Given the description of an element on the screen output the (x, y) to click on. 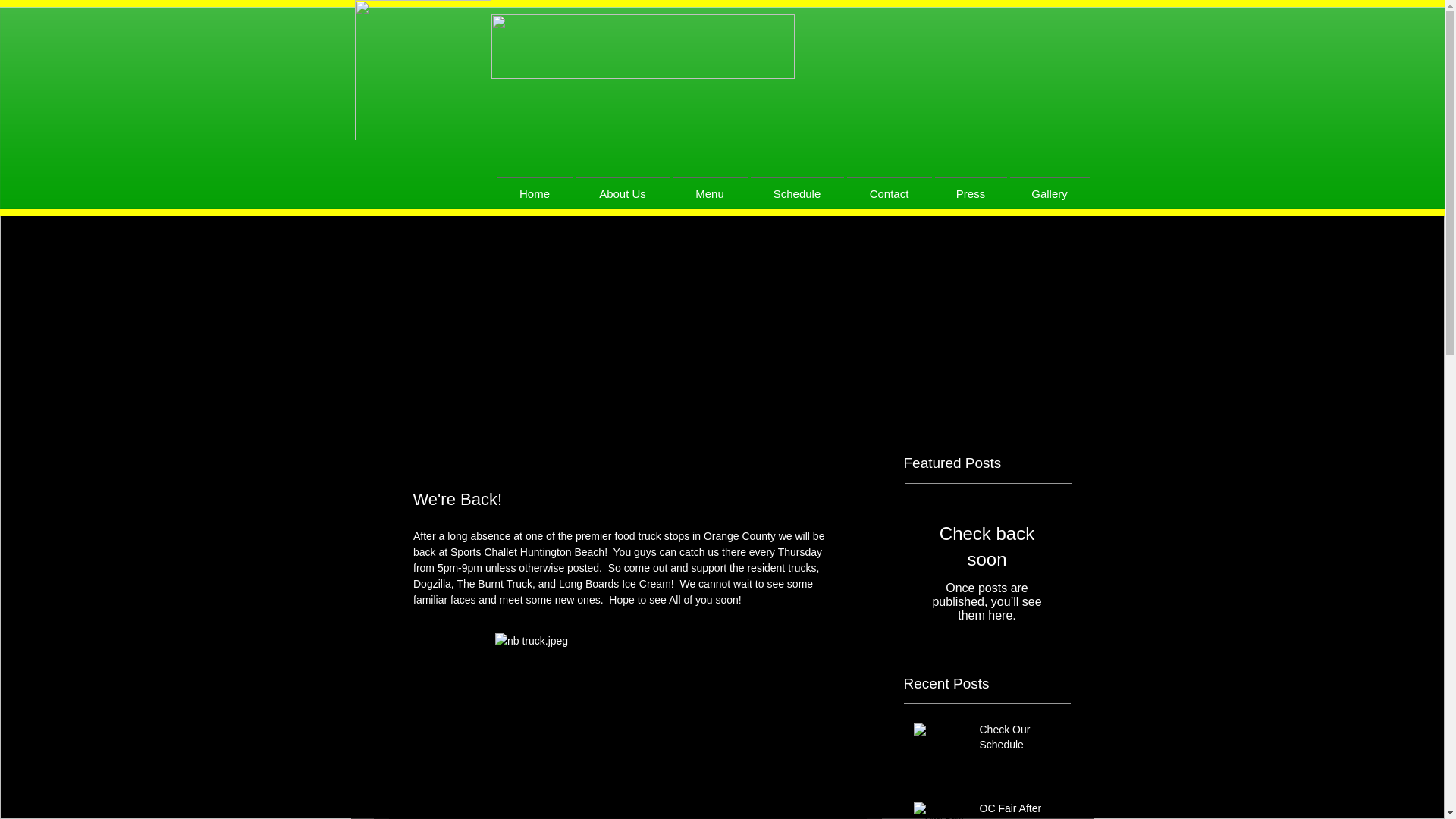
Home (534, 186)
Gallery (1049, 186)
About Us (623, 186)
Check Our Schedule (1020, 740)
Schedule (797, 186)
Press (970, 186)
Contact (888, 186)
Menu (708, 186)
OC Fair After Dark (1020, 810)
